Given the description of an element on the screen output the (x, y) to click on. 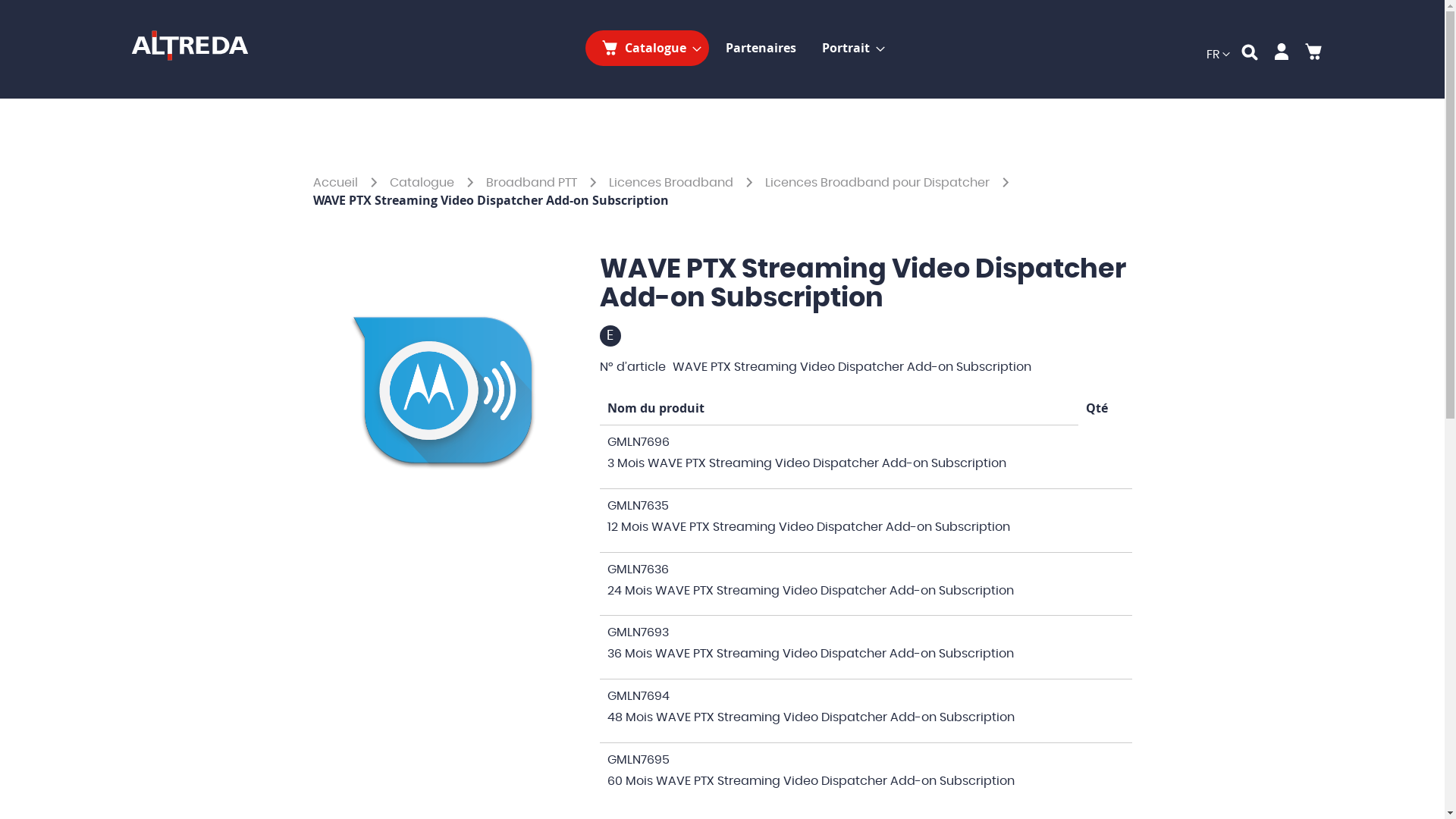
Catalogue Element type: text (647, 47)
Licences Broadband Element type: text (671, 182)
Catalogue Element type: text (423, 182)
Mon panier Element type: text (1312, 54)
Accueil Element type: text (336, 182)
Broadband PTT Element type: text (532, 182)
Licences Broadband pour Dispatcher Element type: text (877, 182)
Portrait Element type: text (848, 47)
Rechercher Element type: hover (1248, 54)
Partenaires Element type: text (759, 47)
Mon compte Element type: hover (1280, 54)
